Given the description of an element on the screen output the (x, y) to click on. 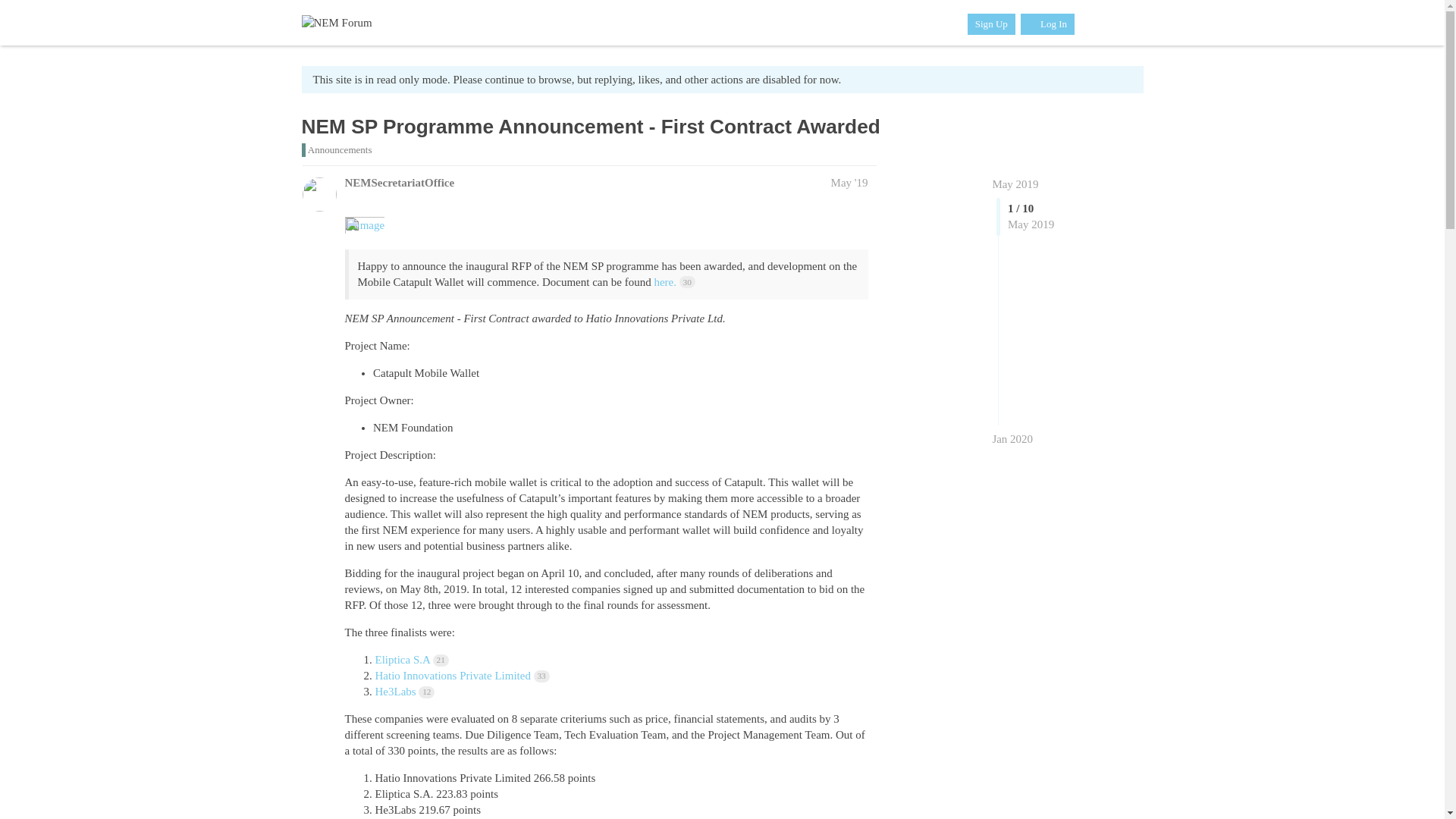
Eliptica S.A 21 (411, 659)
May '19 (849, 182)
21 clicks (440, 660)
search topics, posts, users, or categories (1094, 22)
33 clicks (542, 676)
Hatio Innovations Private Limited 33 (461, 675)
May 2019 (1014, 184)
here. 30 (673, 282)
Log In (1047, 24)
Announcements (337, 150)
